Given the description of an element on the screen output the (x, y) to click on. 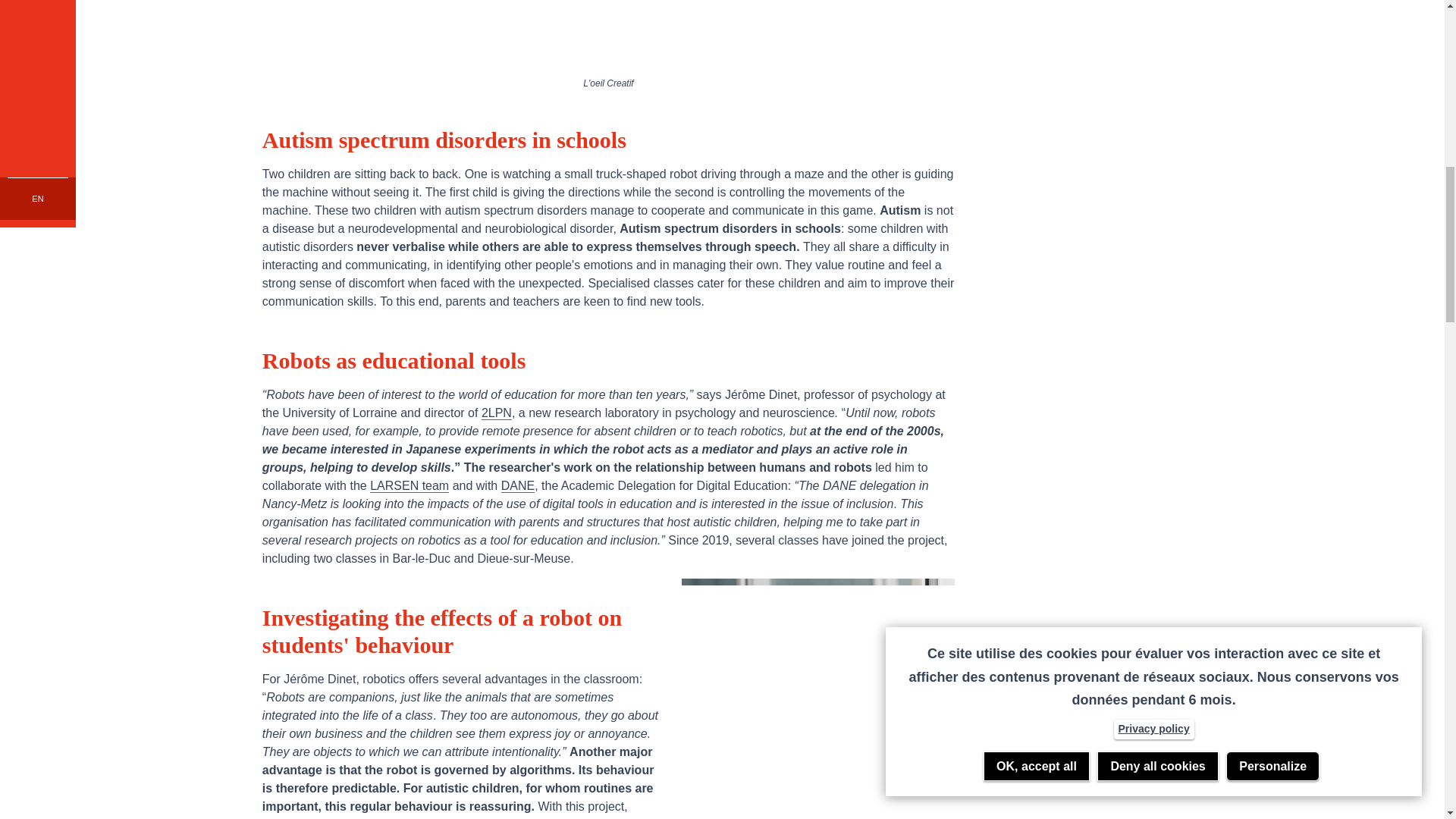
DANE (517, 486)
LARSEN team (408, 486)
2LPN (496, 413)
